Given the description of an element on the screen output the (x, y) to click on. 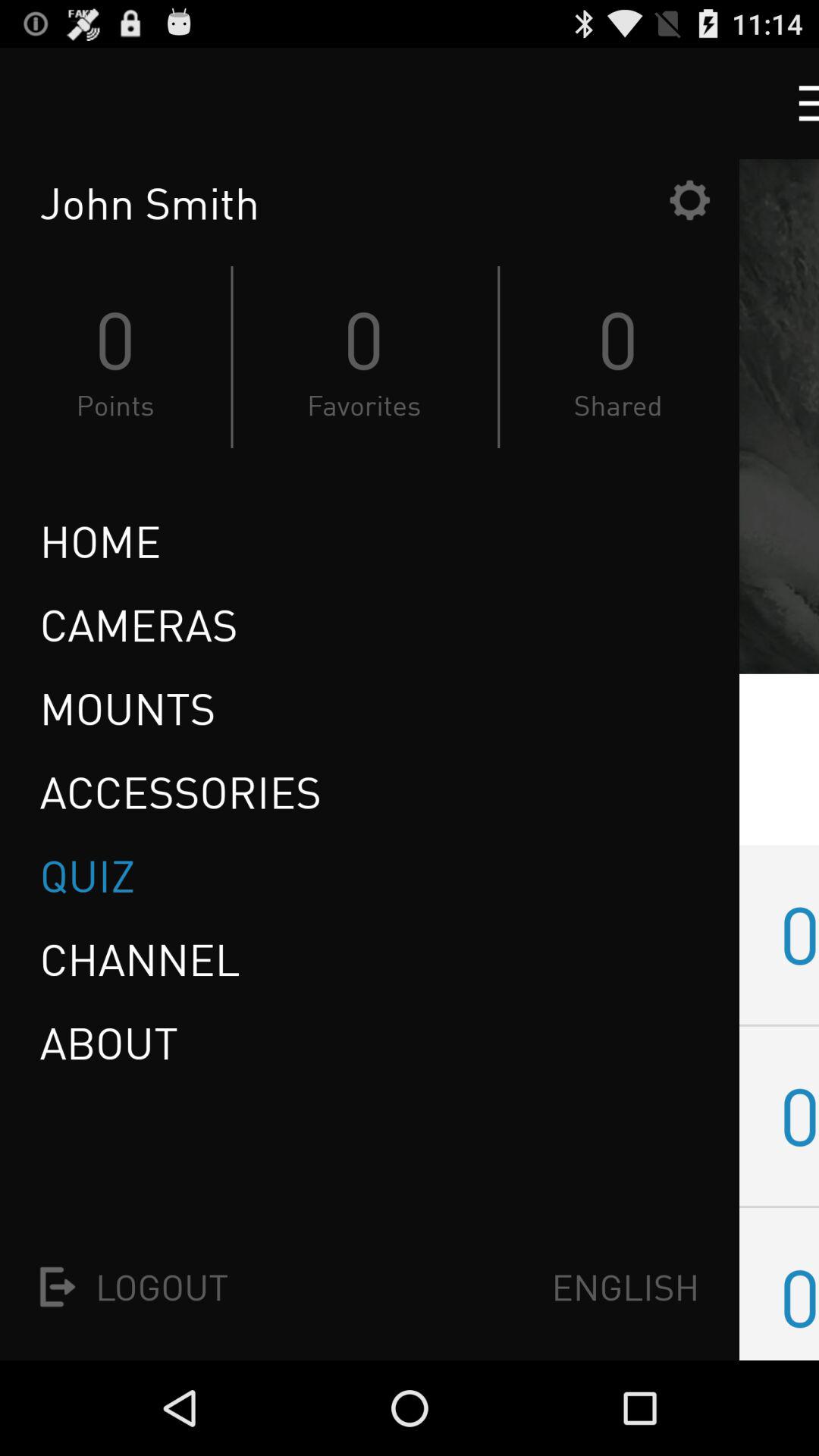
choose the item next to the logout icon (625, 1286)
